Given the description of an element on the screen output the (x, y) to click on. 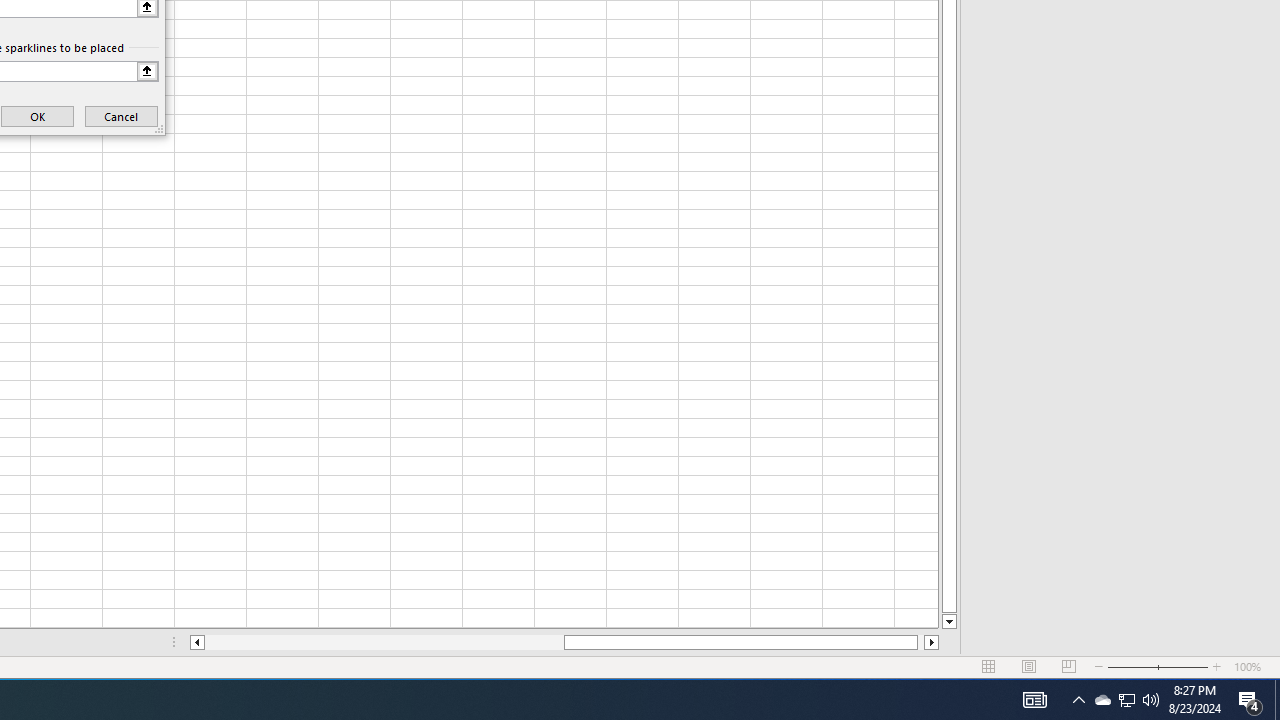
Page left (384, 642)
